Given the description of an element on the screen output the (x, y) to click on. 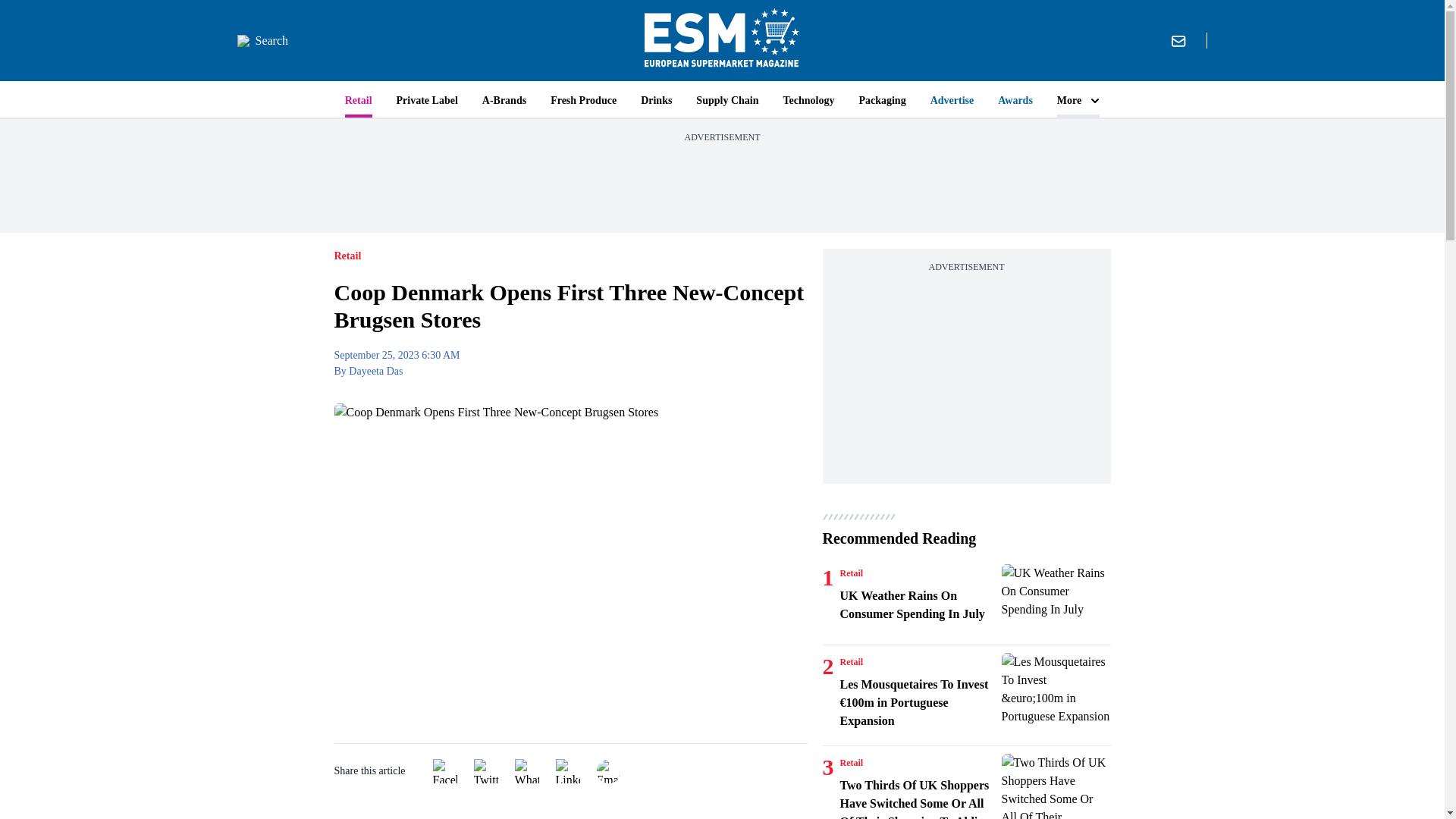
Retail (851, 573)
Search (261, 40)
ESM (722, 40)
UK Weather Rains On Consumer Spending In July (1055, 600)
Retail (851, 762)
Retail (851, 662)
UK Weather Rains On Consumer Spending In July (917, 605)
